Given the description of an element on the screen output the (x, y) to click on. 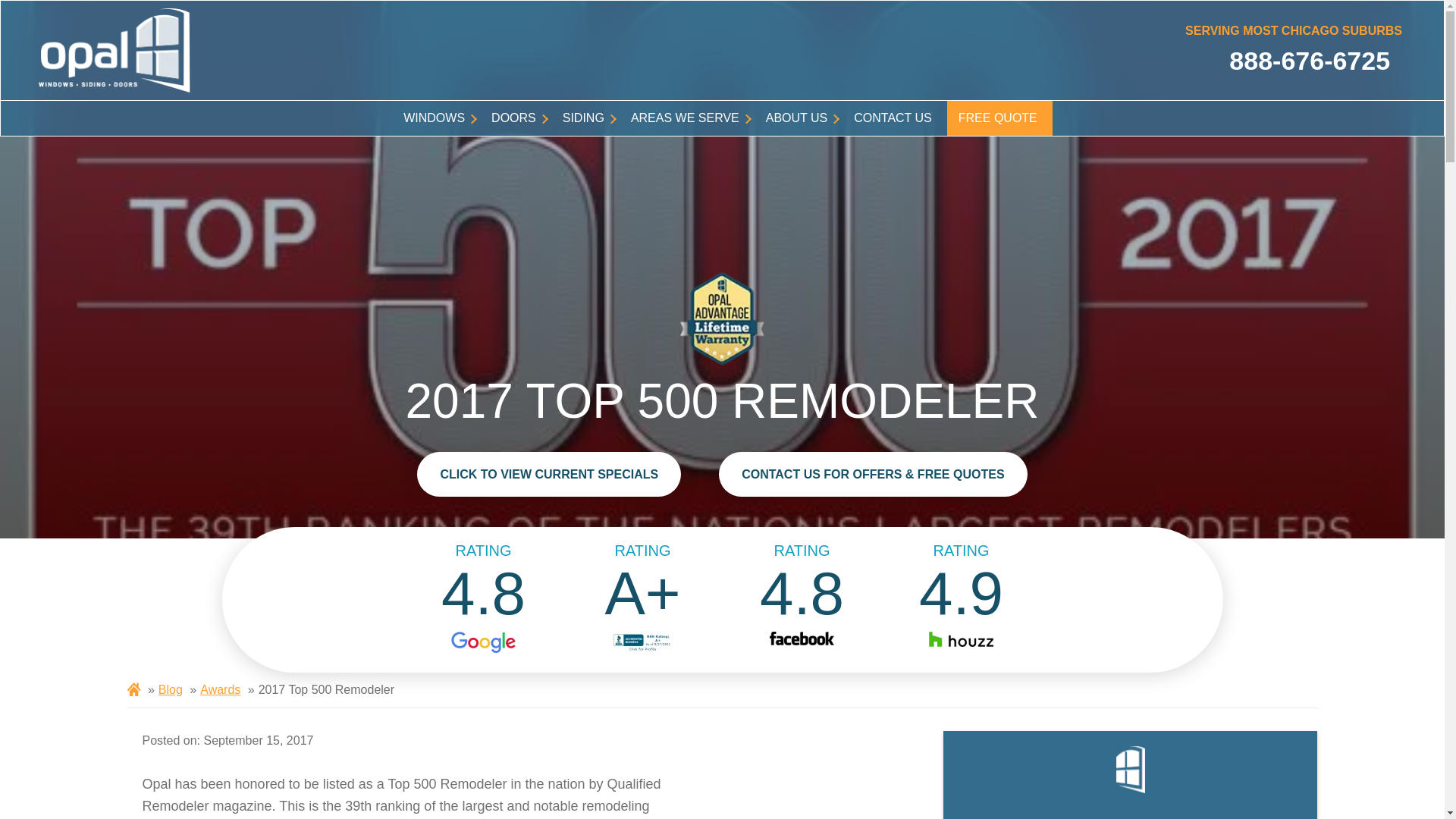
ABOUT US (798, 117)
WINDOWS (435, 117)
facebook (801, 641)
888-676-6725 (1293, 60)
AREAS WE SERVE (687, 117)
houzz (961, 641)
SIDING (585, 117)
DOORS (515, 117)
Opal Enterprises Inc (114, 50)
accredited business bbb (643, 641)
google (482, 641)
